Given the description of an element on the screen output the (x, y) to click on. 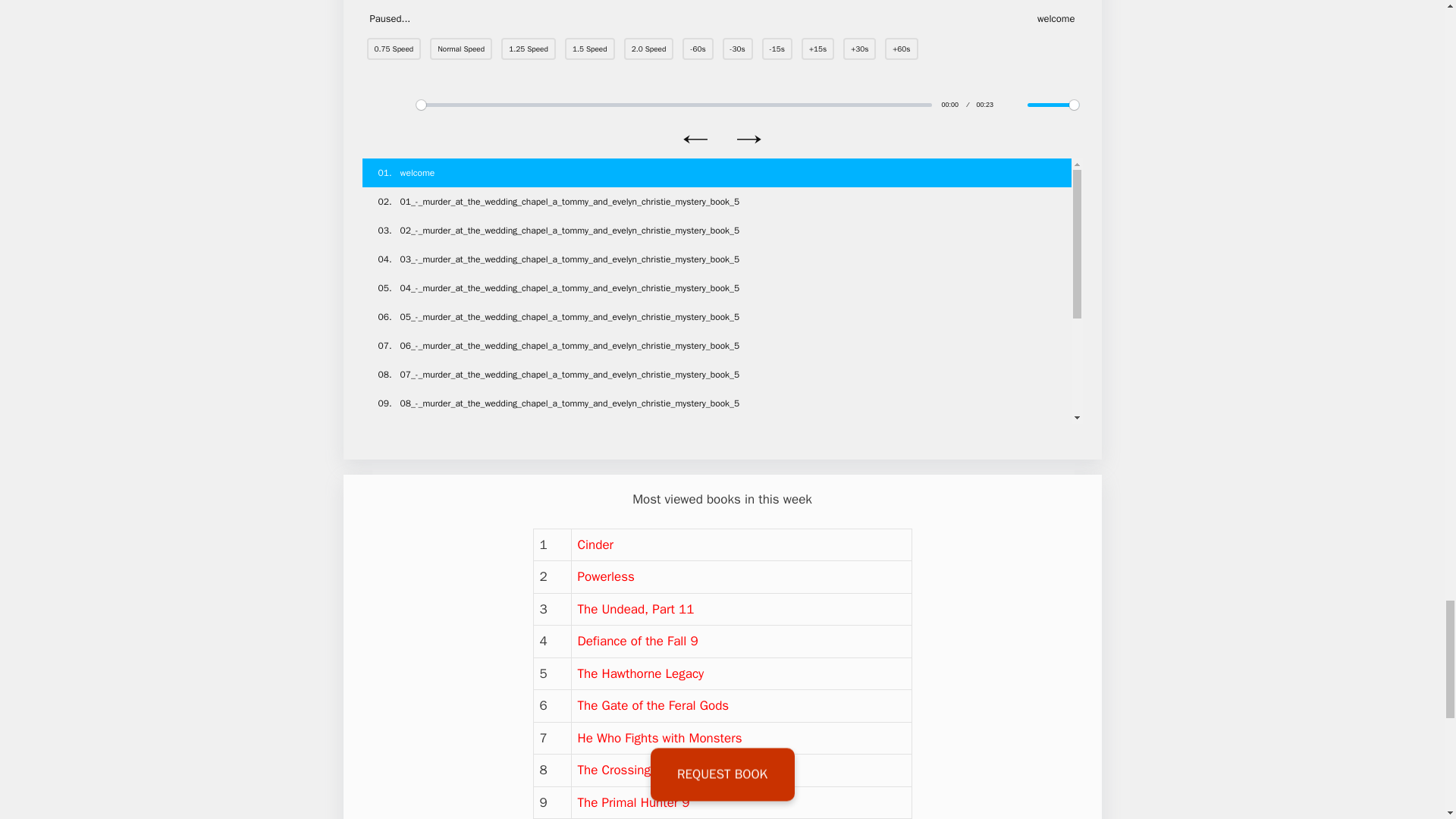
0 (673, 104)
1 (1052, 104)
